Given the description of an element on the screen output the (x, y) to click on. 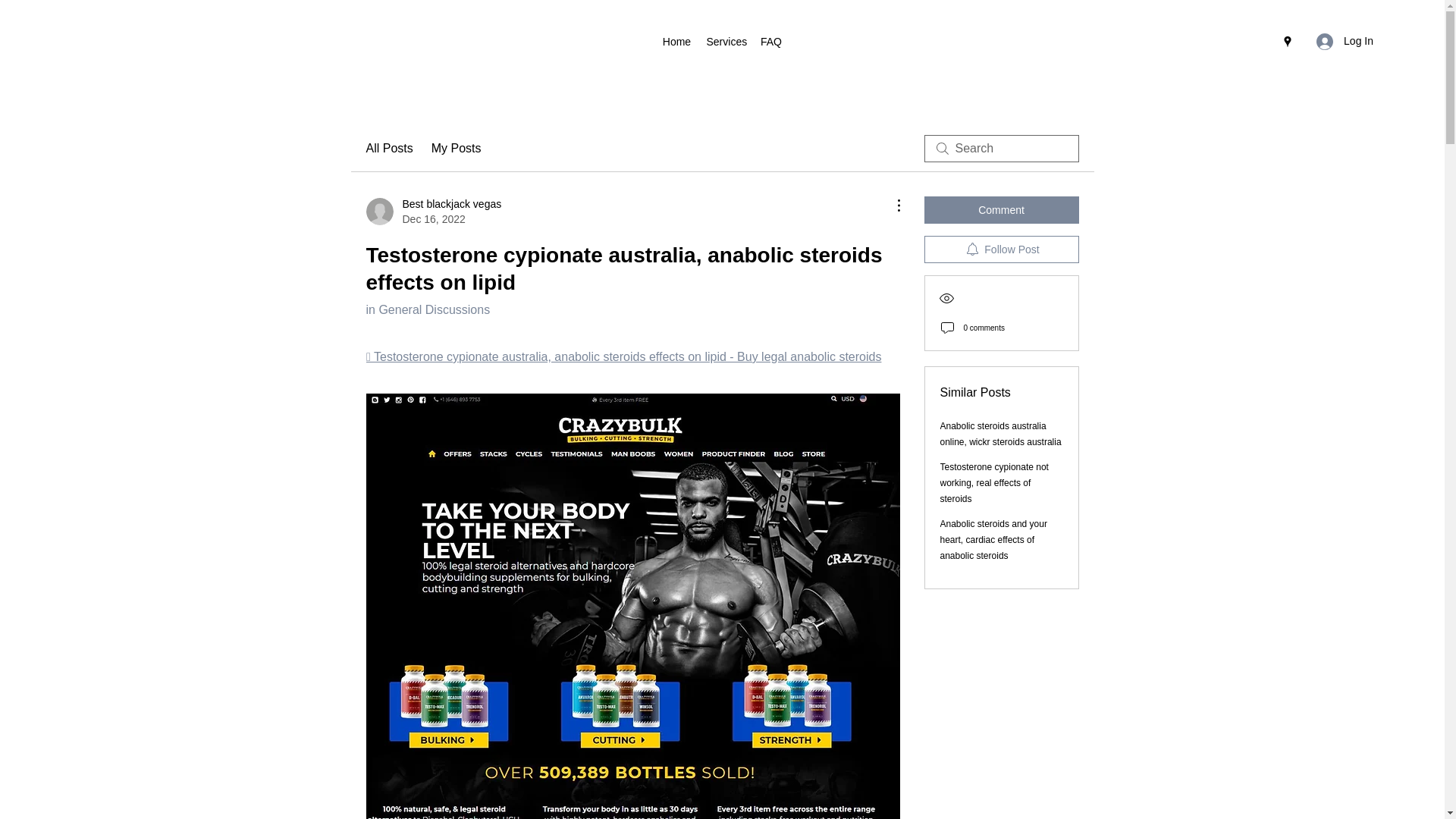
Follow Post (1000, 248)
Home (676, 41)
in General Discussions (427, 309)
Services (432, 211)
Testosterone cypionate not working, real effects of steroids (725, 41)
My Posts (994, 482)
All Posts (455, 148)
Comment (388, 148)
